Given the description of an element on the screen output the (x, y) to click on. 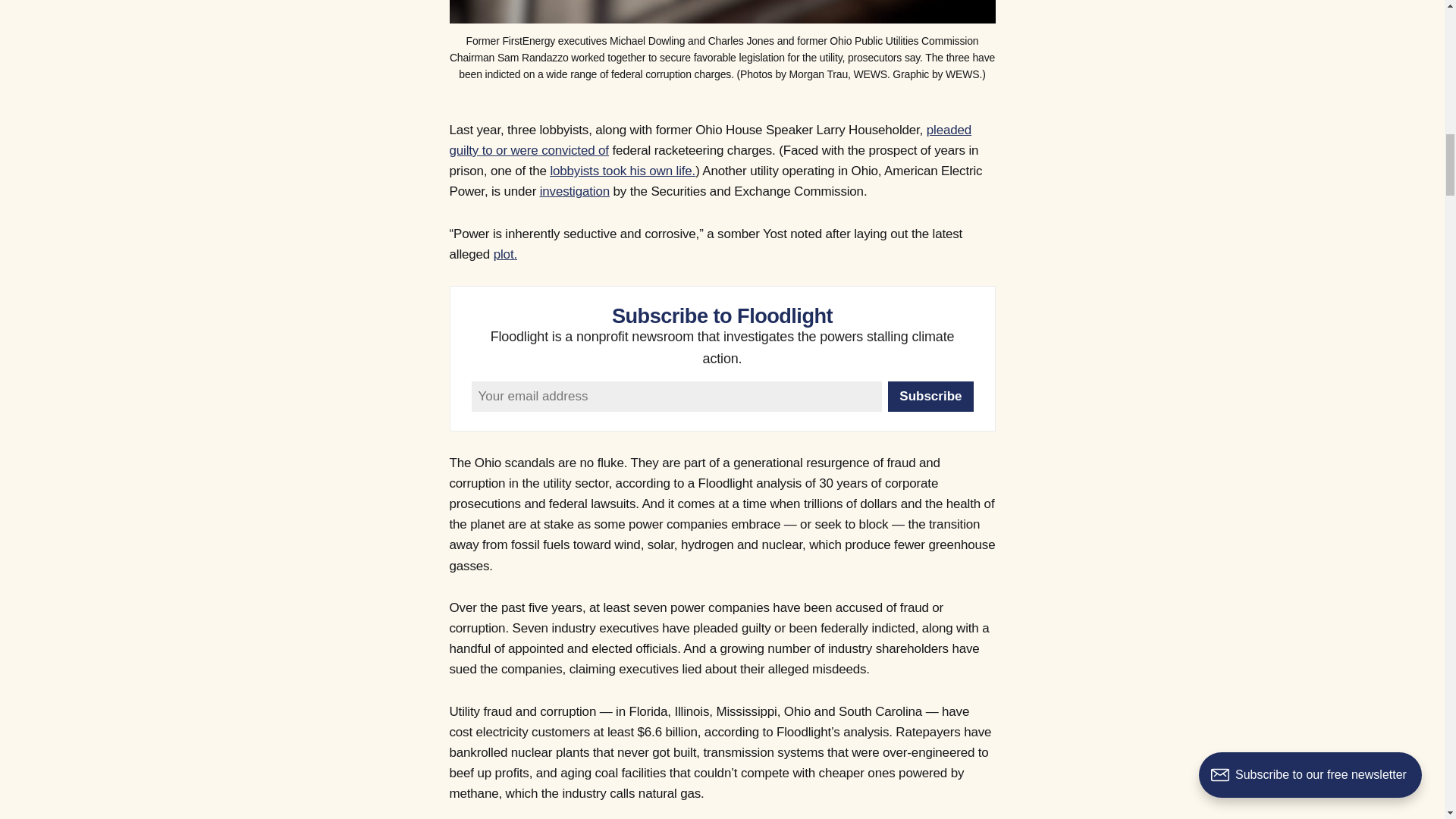
lobbyists took his own life. (622, 170)
investigation (575, 191)
pleaded guilty to or were convicted of (709, 140)
plot. (504, 254)
Subscribe (930, 396)
